Given the description of an element on the screen output the (x, y) to click on. 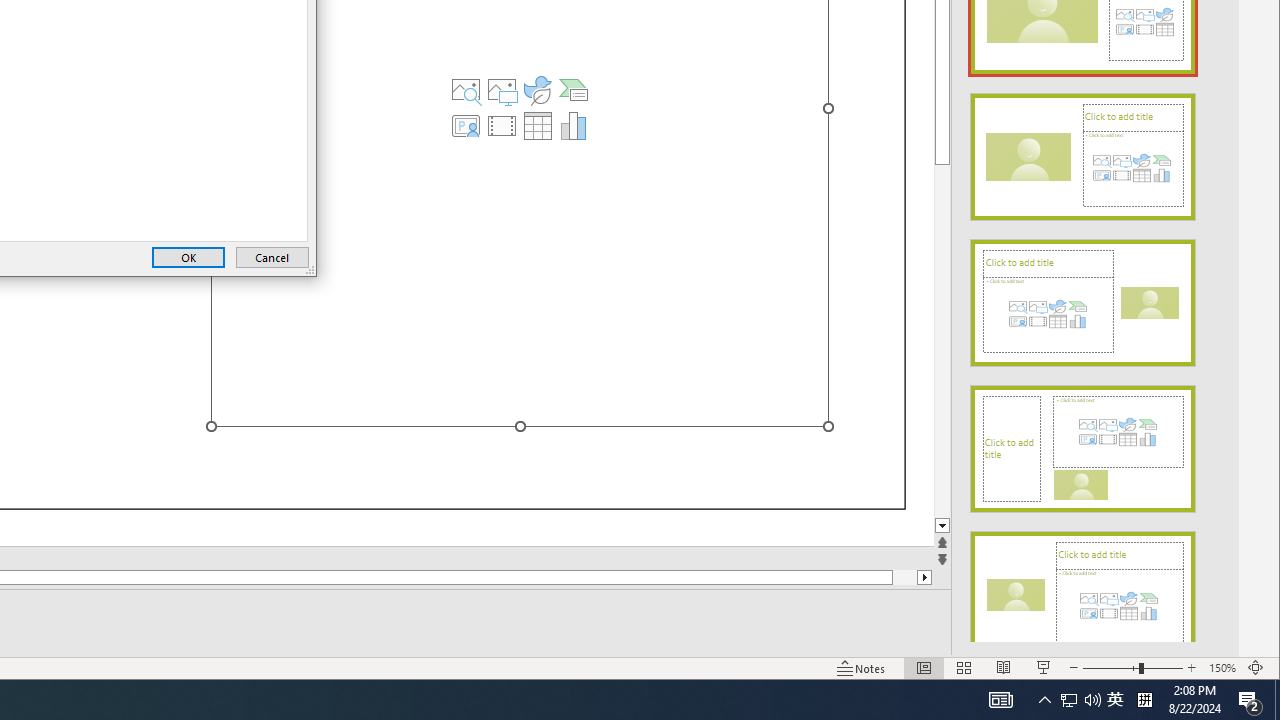
Page down (942, 340)
Insert a SmartArt Graphic (1069, 699)
Tray Input Indicator - Chinese (Simplified, China) (574, 89)
